Given the description of an element on the screen output the (x, y) to click on. 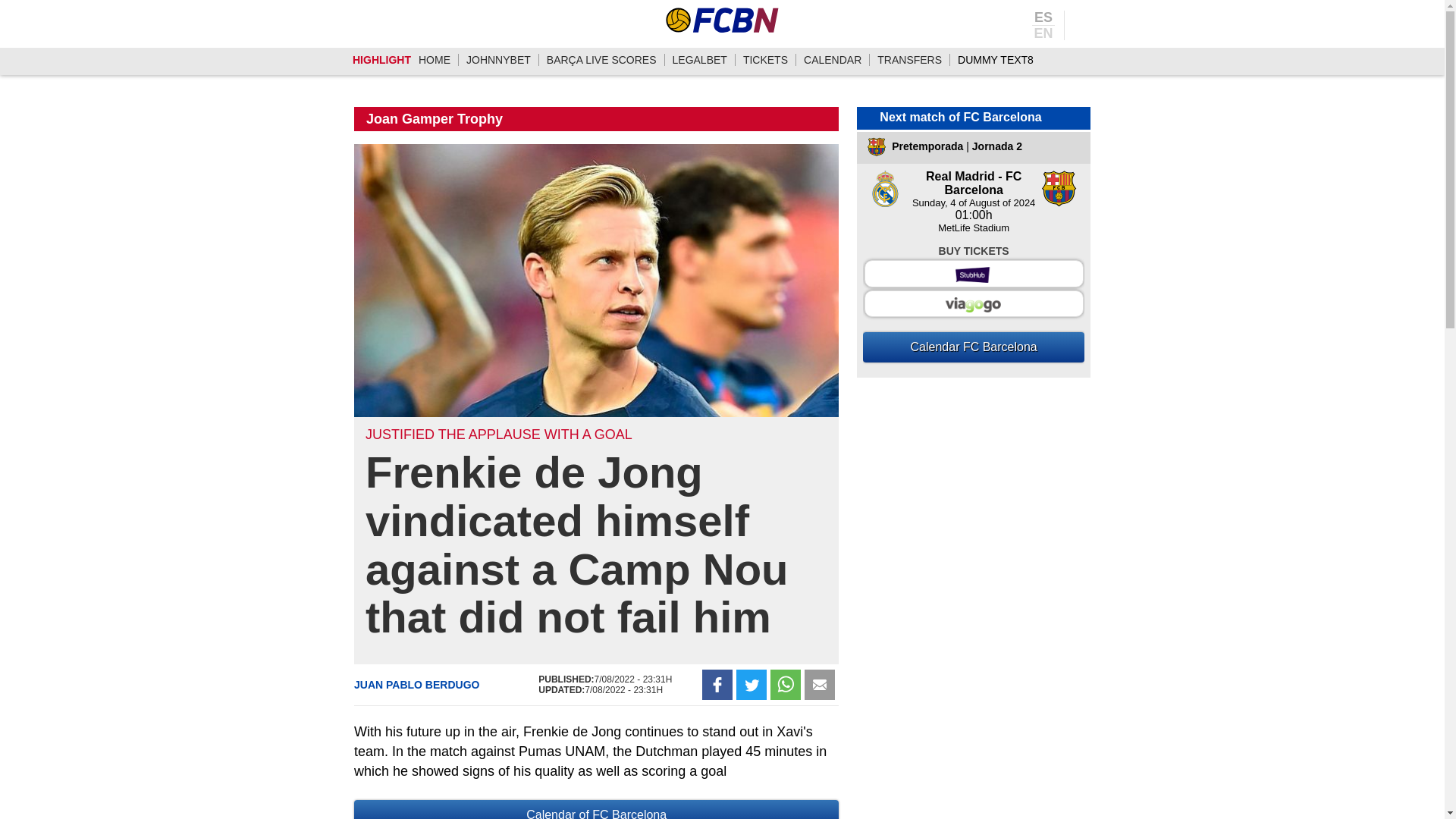
TRANSFERS (909, 60)
FCBN (721, 19)
TICKETS (764, 60)
Calendar of FC Barcelona (595, 809)
Joan Gamper Trophy (434, 118)
LEGALBET (699, 60)
English (1043, 32)
Castellano (1043, 17)
TICKETS (764, 60)
CALENDAR (832, 60)
Home (434, 60)
HOME (434, 60)
LEGALBET (699, 60)
ES (1043, 17)
JOHNNEYBET (498, 60)
